Given the description of an element on the screen output the (x, y) to click on. 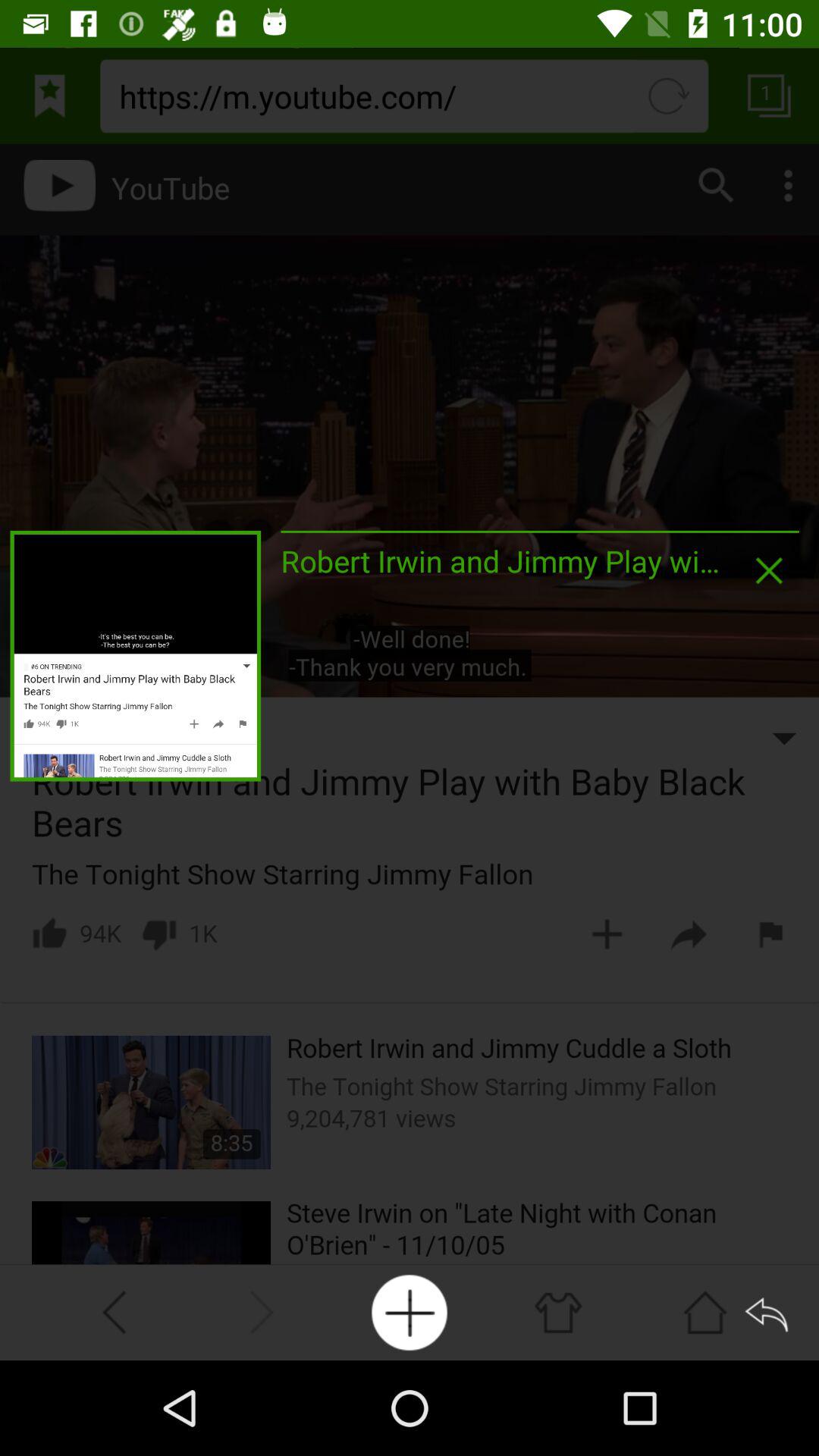
press the item below robert irwin and app (409, 1312)
